Given the description of an element on the screen output the (x, y) to click on. 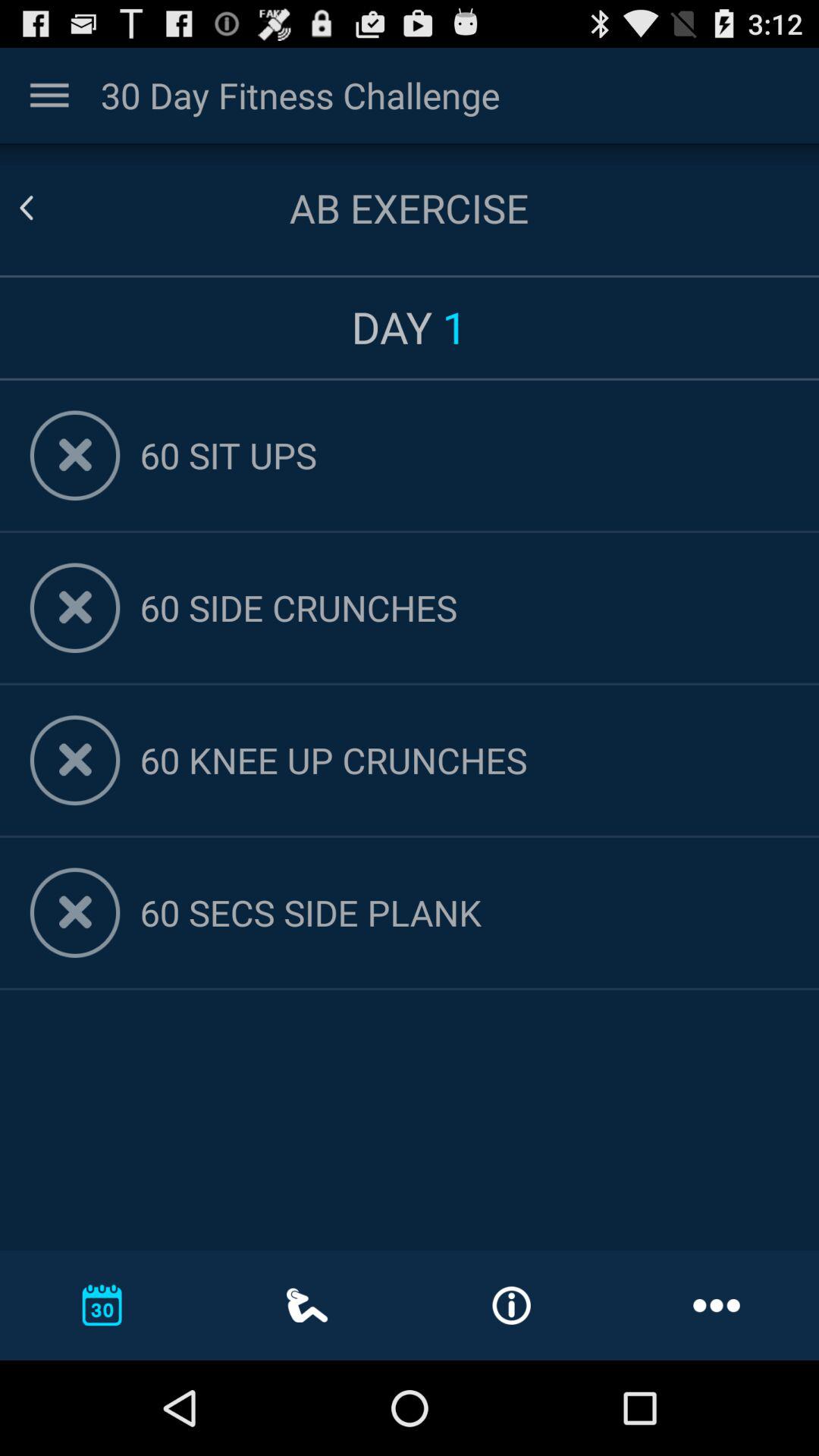
go back (44, 208)
